Given the description of an element on the screen output the (x, y) to click on. 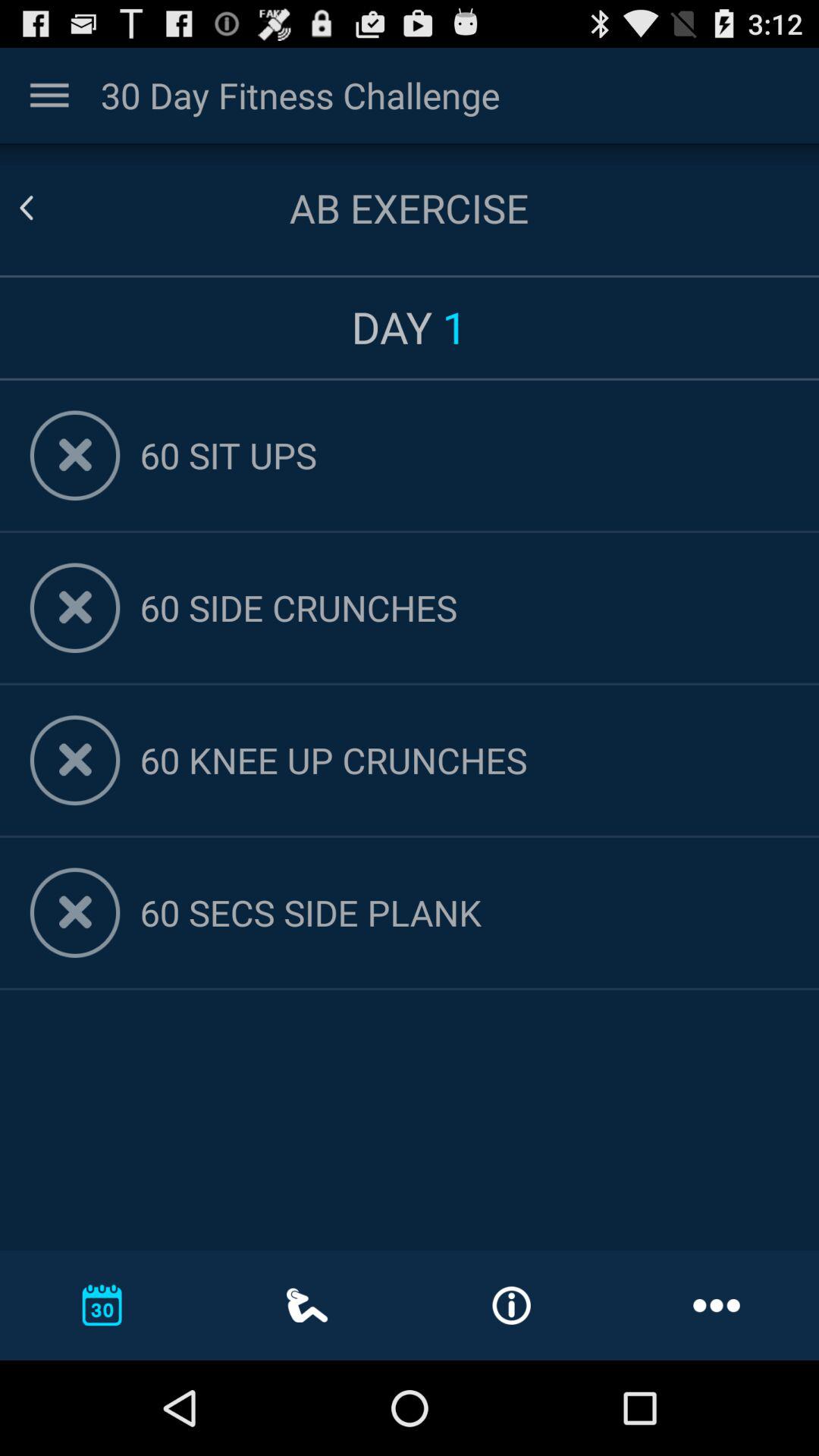
go back (44, 208)
